Given the description of an element on the screen output the (x, y) to click on. 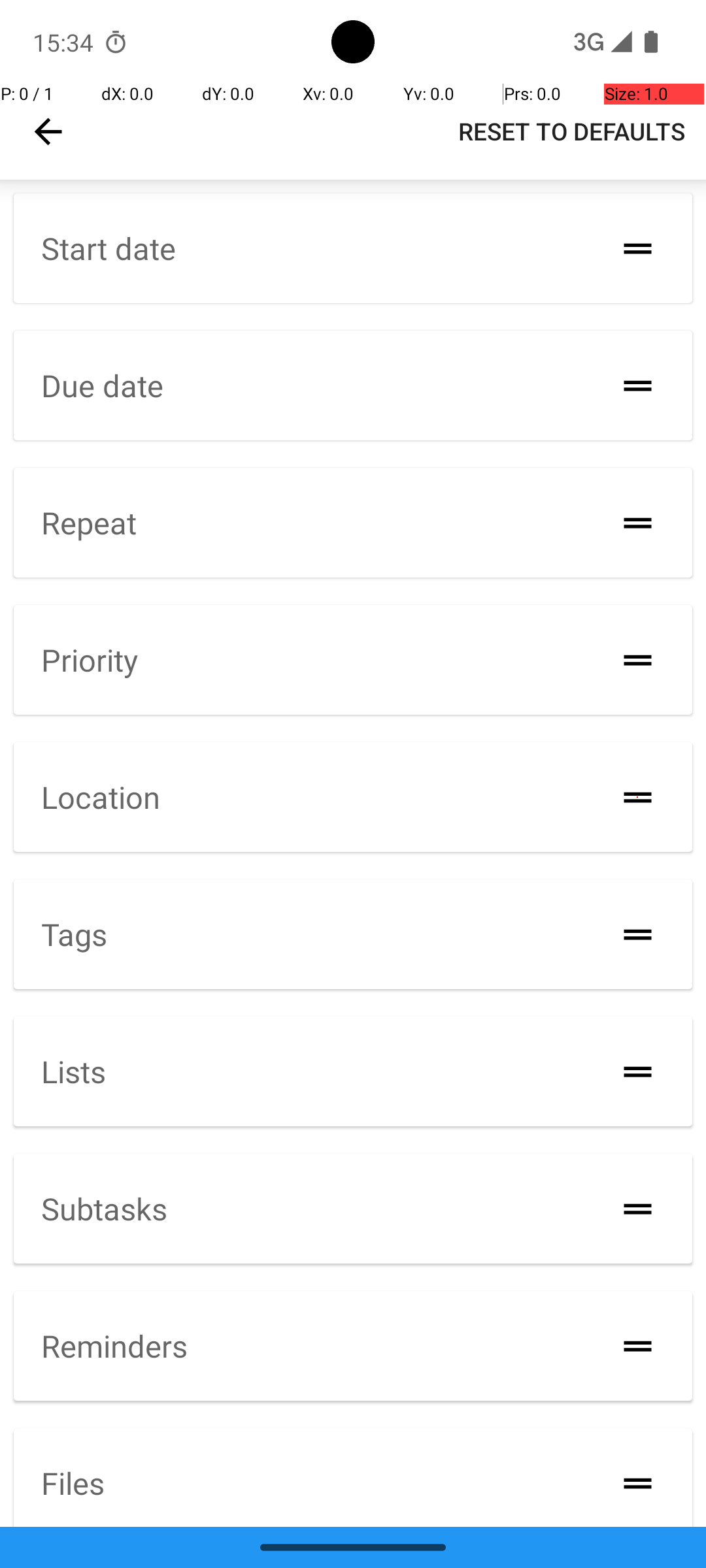
RESET TO DEFAULTS Element type: android.widget.Button (571, 131)
Start date Element type: android.widget.TextView (108, 247)
Lists Element type: android.widget.TextView (73, 1070)
Reminders Element type: android.widget.TextView (114, 1345)
